Given the description of an element on the screen output the (x, y) to click on. 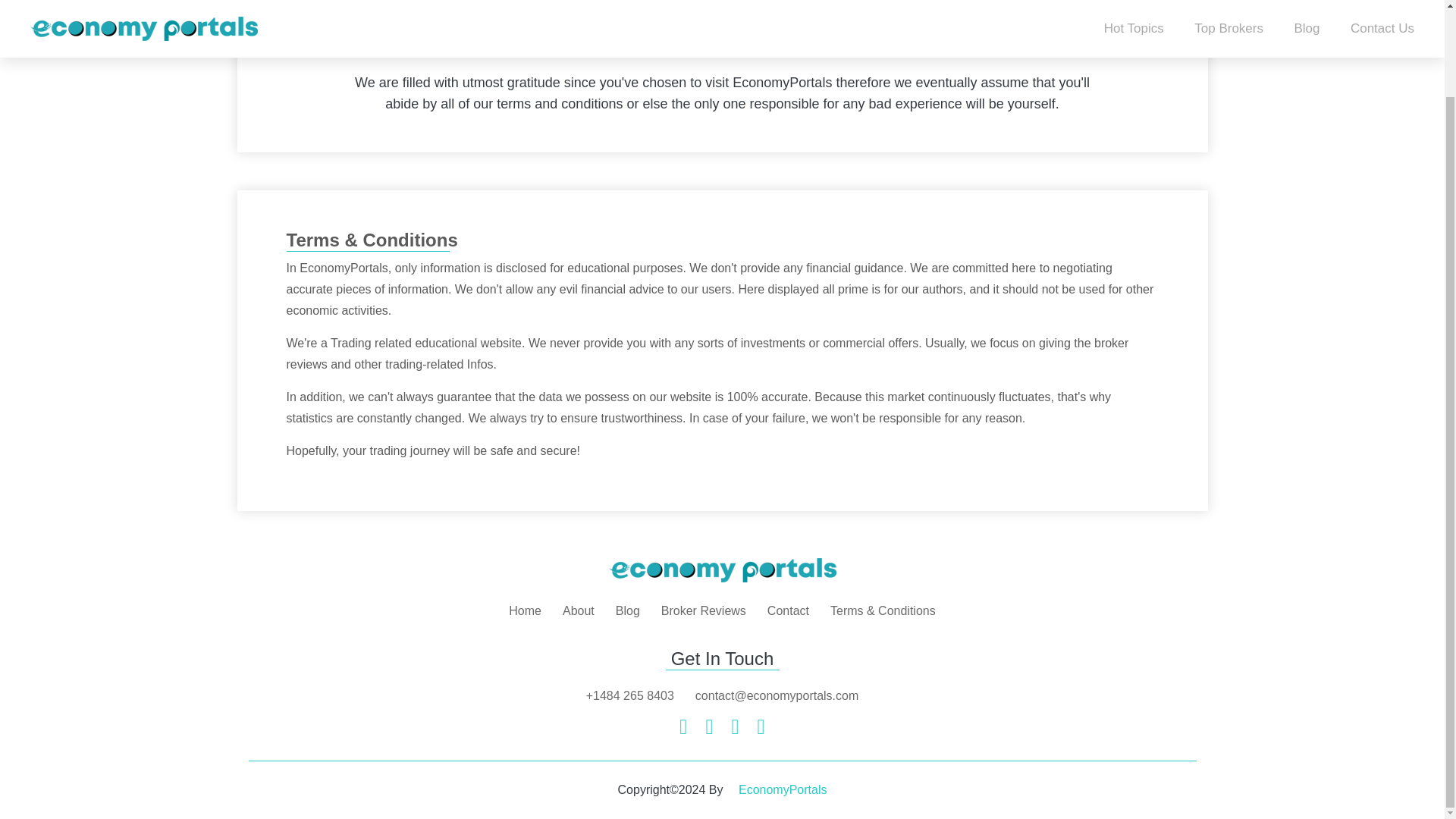
About (578, 610)
Contact (788, 610)
Home (524, 610)
Blog (627, 610)
Broker Reviews (703, 610)
